Given the description of an element on the screen output the (x, y) to click on. 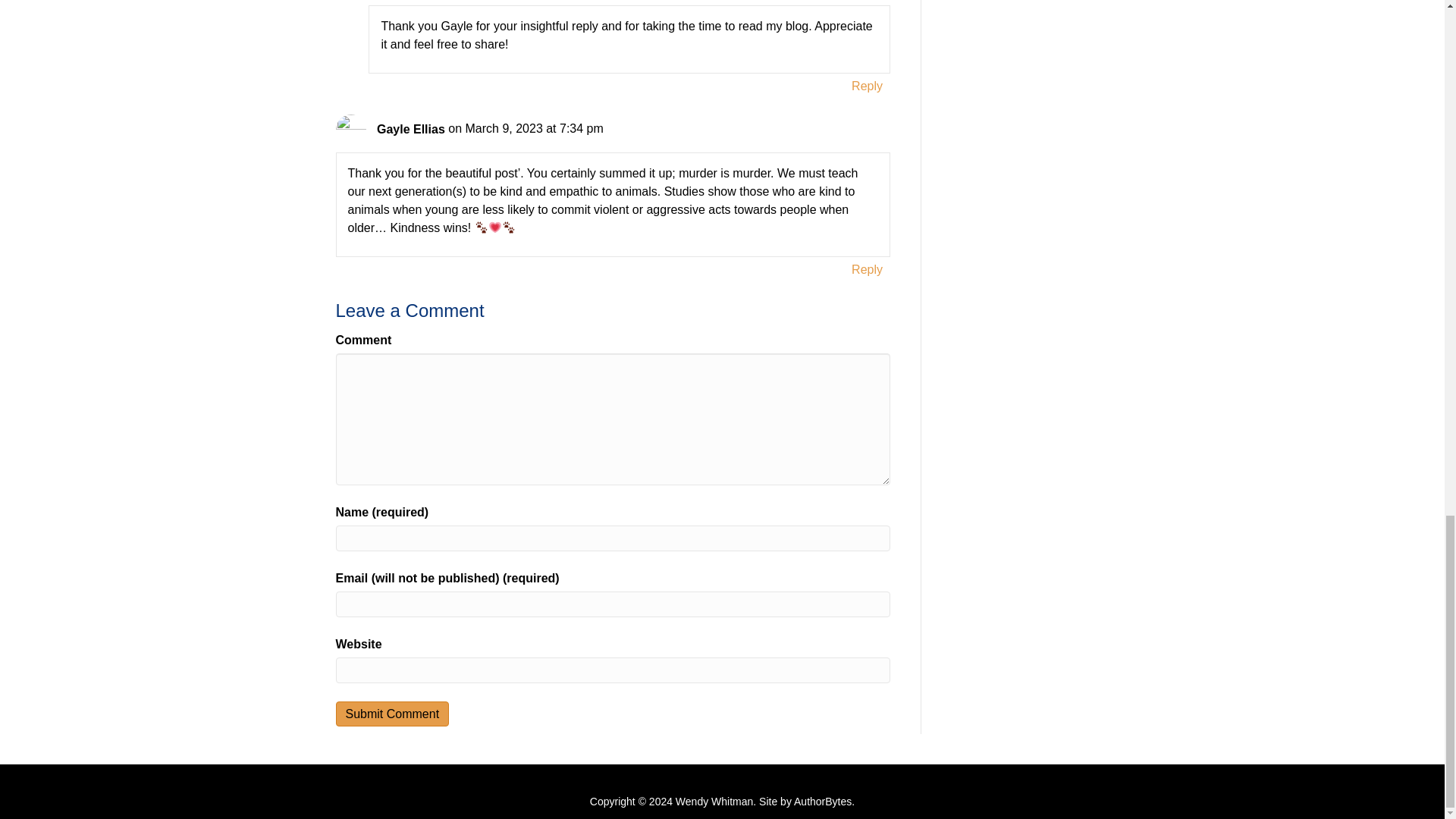
Reply (866, 86)
Reply (866, 269)
Submit Comment (391, 713)
Submit Comment (391, 713)
AuthorBytes (822, 801)
